Given the description of an element on the screen output the (x, y) to click on. 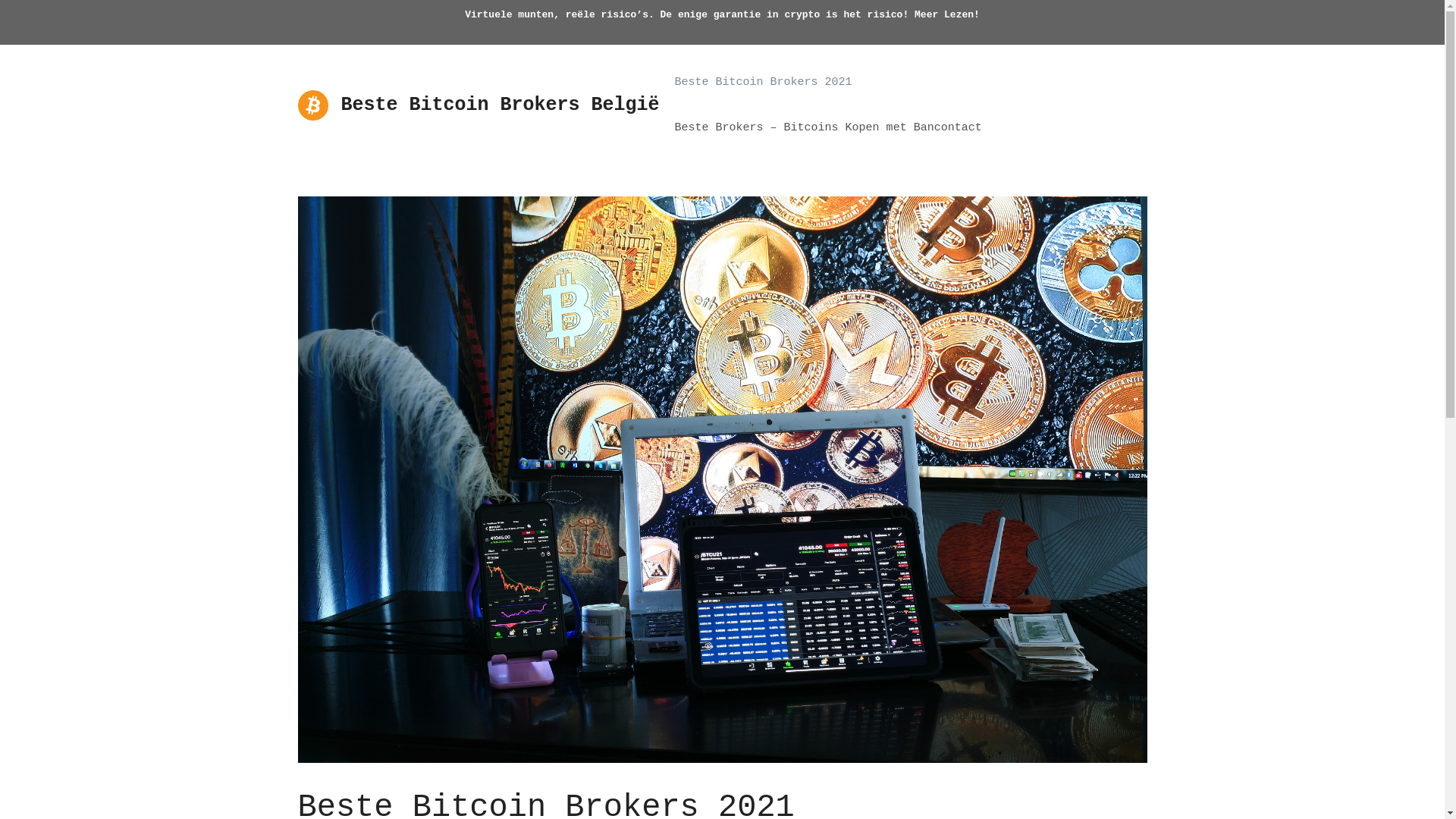
Meer Lezen! Element type: text (946, 14)
Beste Bitcoin Brokers 2021 Element type: text (763, 82)
